Given the description of an element on the screen output the (x, y) to click on. 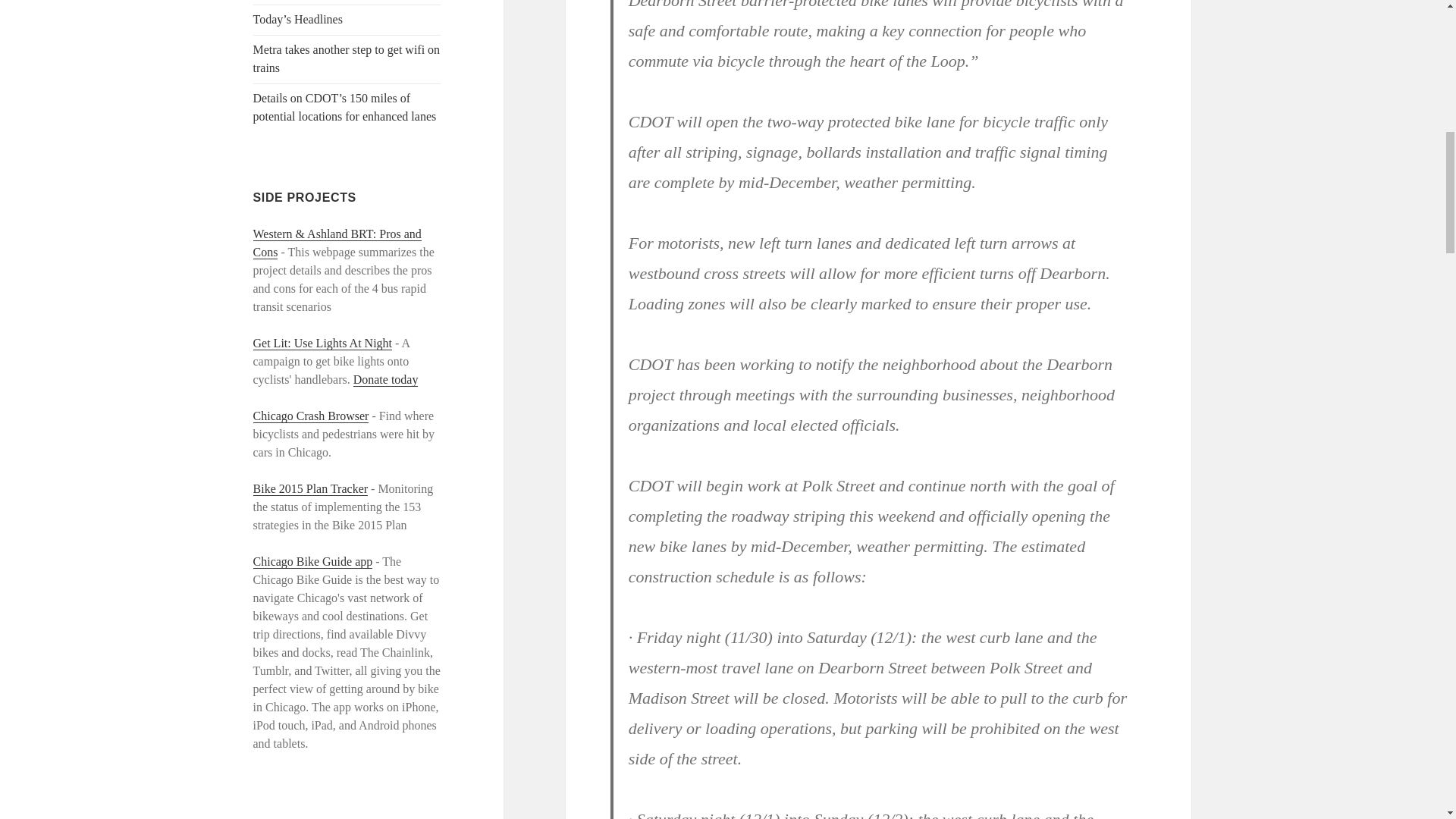
Get Lit: Use Lights At Night (323, 343)
Bike 2015 Plan Tracker (310, 489)
Donate today (386, 379)
Chicago Bike Guide app (312, 561)
Chicago Crash Browser (311, 416)
Metra takes another step to get wifi on trains (347, 58)
